Given the description of an element on the screen output the (x, y) to click on. 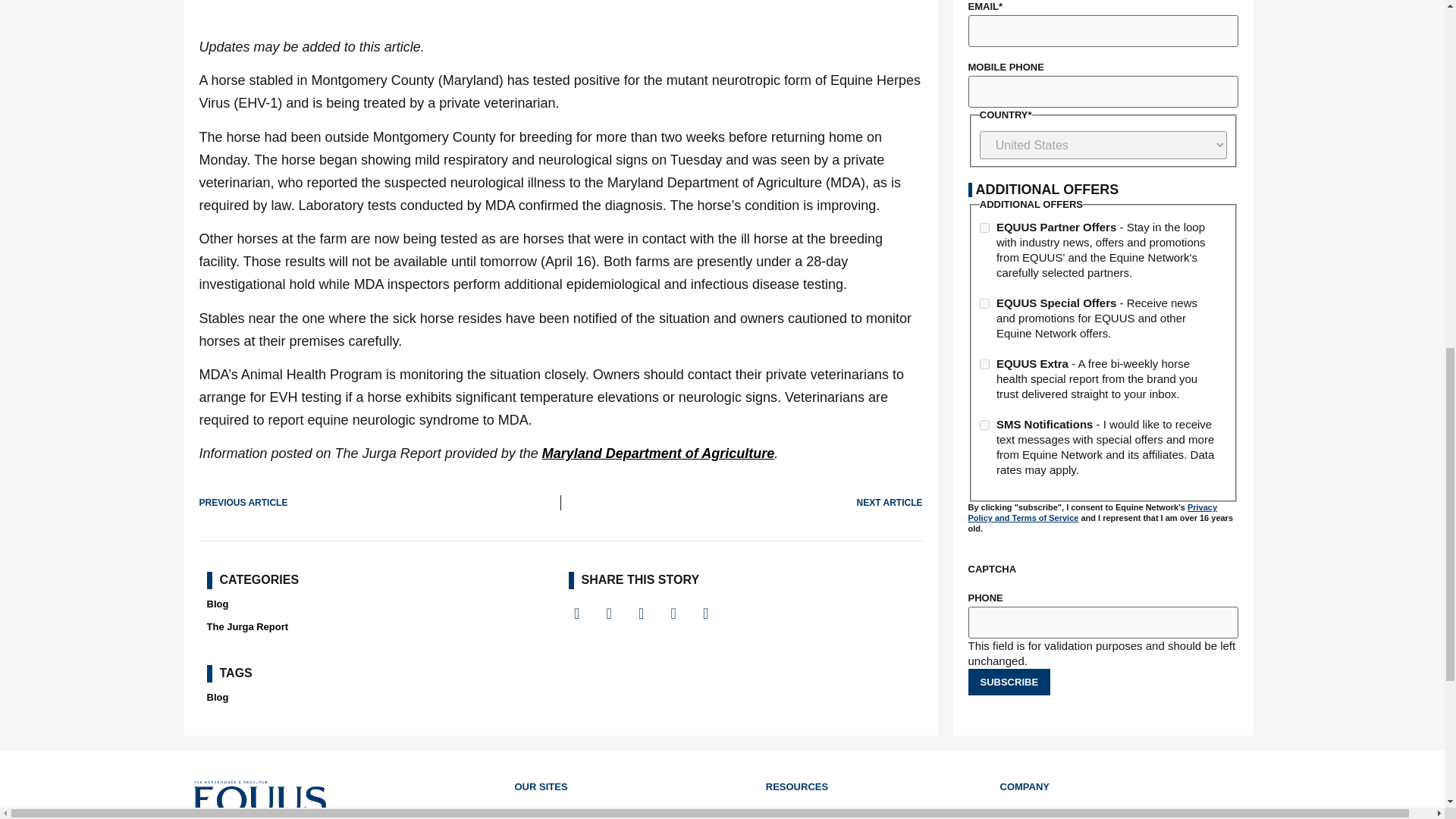
591f5baa-e9c3-40bf-bf02-f5923680caa3 (984, 303)
0cd2e389-c43e-4146-b3bb-59ab437fd8f4 (984, 364)
SMS Notifications (984, 424)
52f26a8f-e5be-4237-a9cb-227d8912a511 (984, 227)
Subscribe (1008, 682)
